Given the description of an element on the screen output the (x, y) to click on. 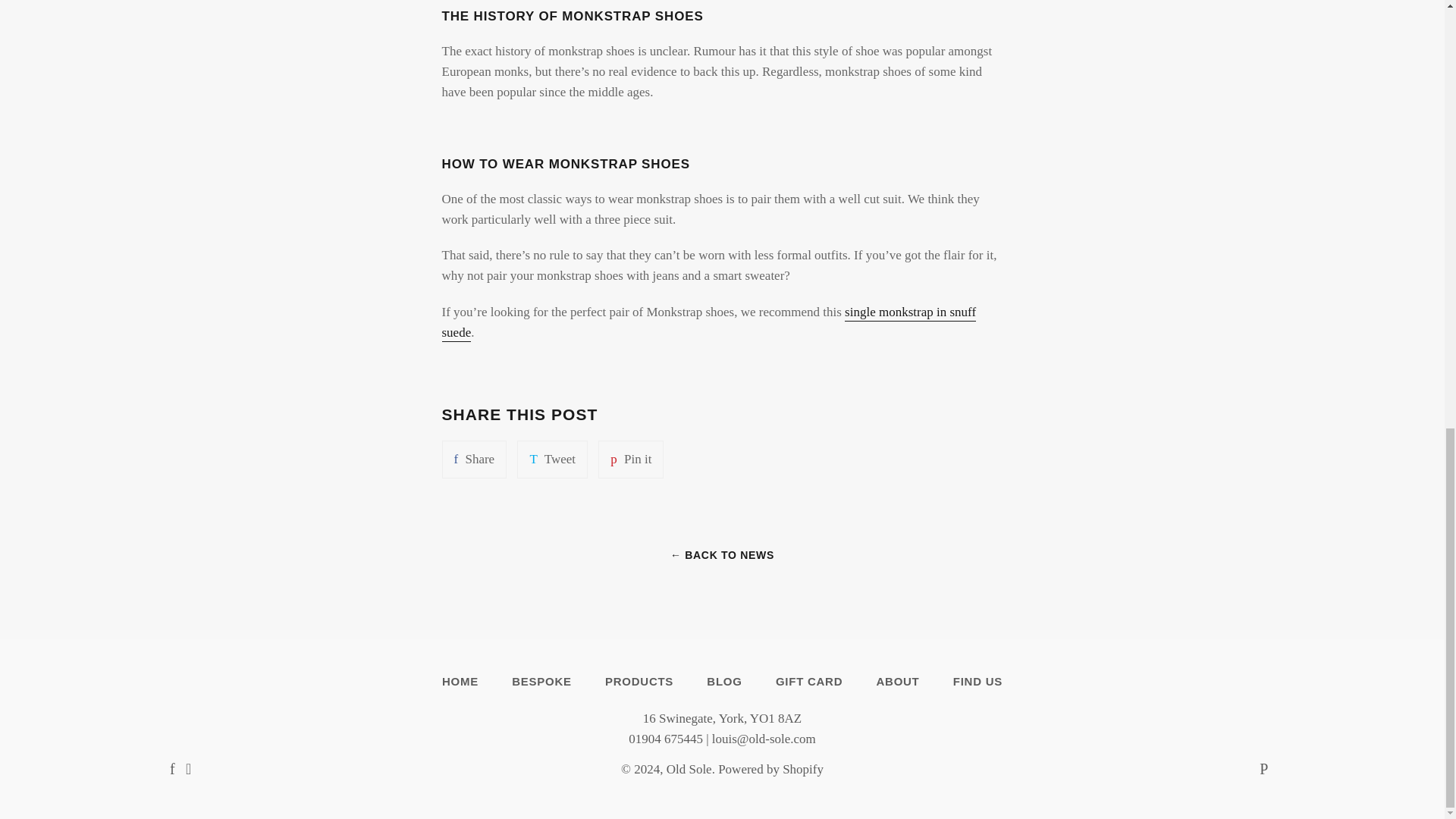
ABOUT (552, 458)
PRODUCTS (897, 680)
GIFT CARD (638, 680)
Pin on Pinterest (808, 680)
Share on Facebook (630, 458)
HOME (630, 458)
Tweet on Twitter (473, 458)
BLOG (459, 680)
